Given the description of an element on the screen output the (x, y) to click on. 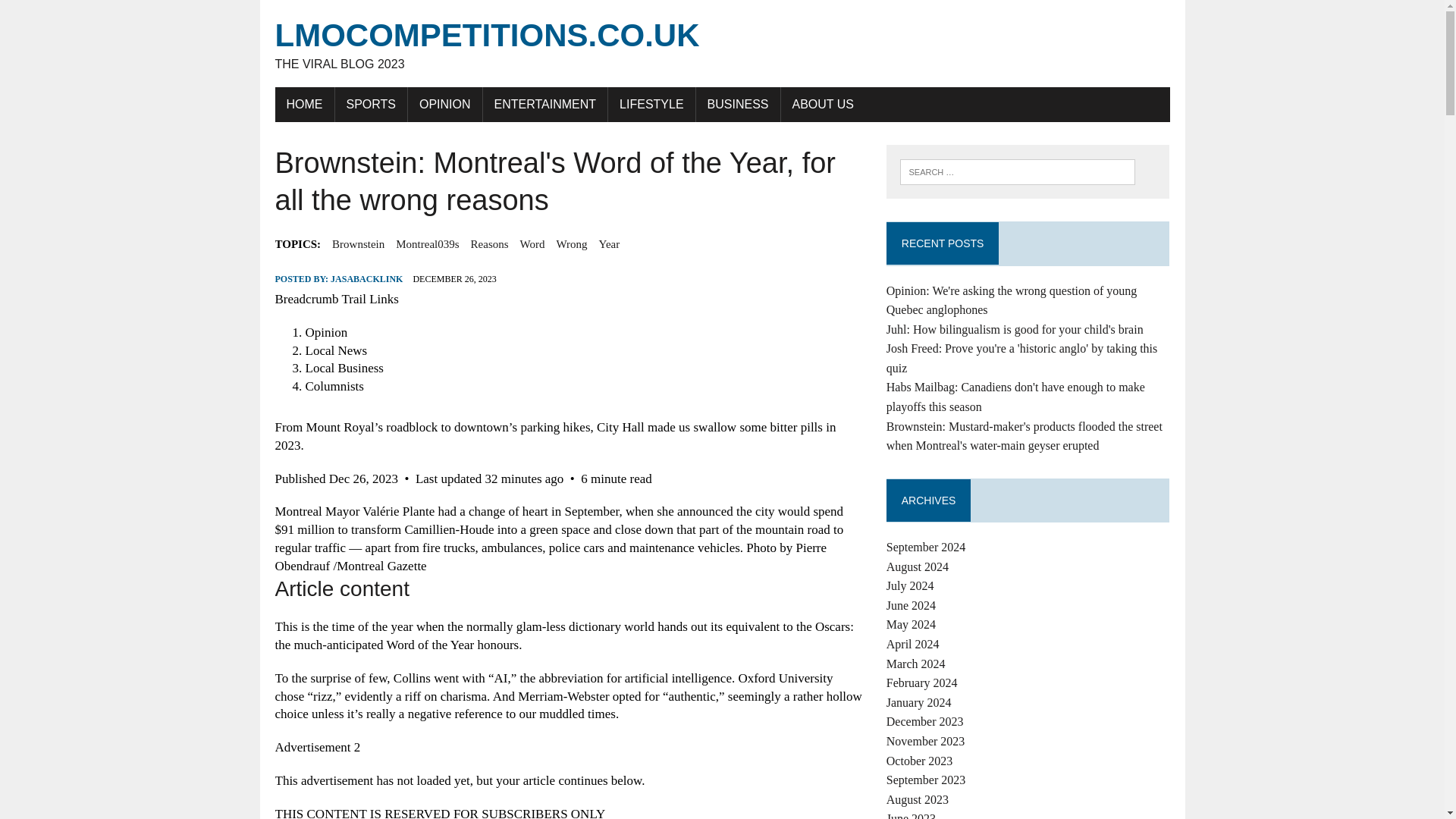
OPINION (444, 104)
HOME (304, 104)
Wrong (572, 244)
Year (609, 244)
JASABACKLINK (366, 278)
lmocompetitions.co.uk (722, 43)
LIFESTYLE (651, 104)
Word (531, 244)
Juhl: How bilingualism is good for your child's brain (1014, 328)
